Given the description of an element on the screen output the (x, y) to click on. 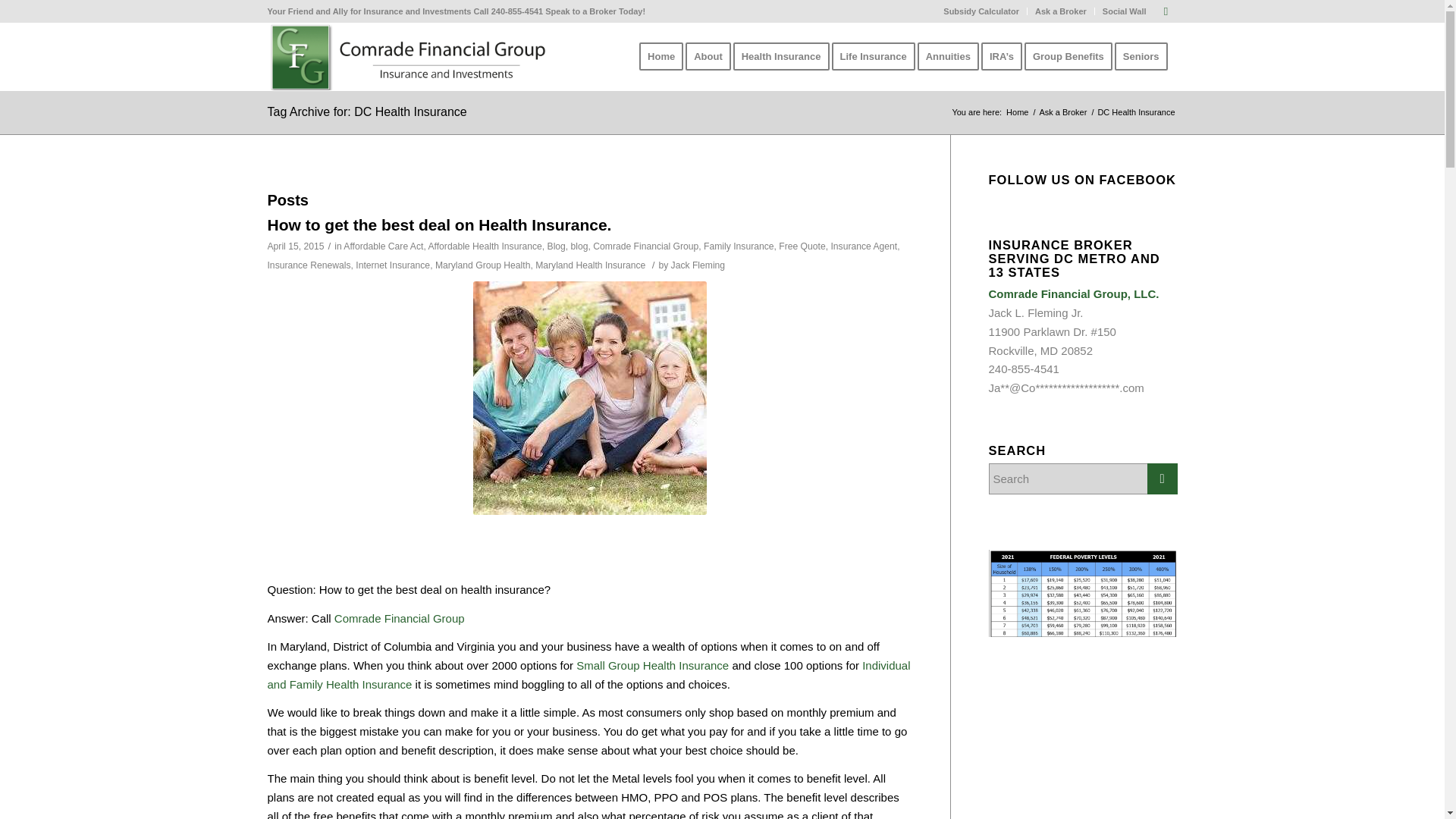
Home (660, 56)
Comrade Financial Group (399, 617)
Small Group Health Insurance (652, 665)
Life Insurance (877, 56)
Social Wall (1124, 11)
Ask a Broker (1062, 112)
Mail (1165, 11)
Health Insurance Quote (588, 675)
Permanent Link: Tag Archive for: DC Health Insurance (365, 111)
